Given the description of an element on the screen output the (x, y) to click on. 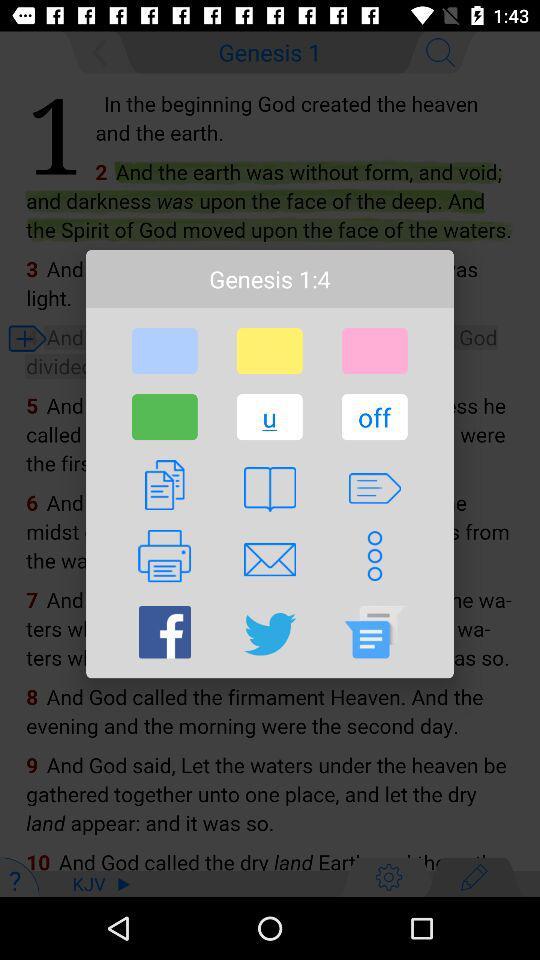
click the button below the u item (269, 489)
